Given the description of an element on the screen output the (x, y) to click on. 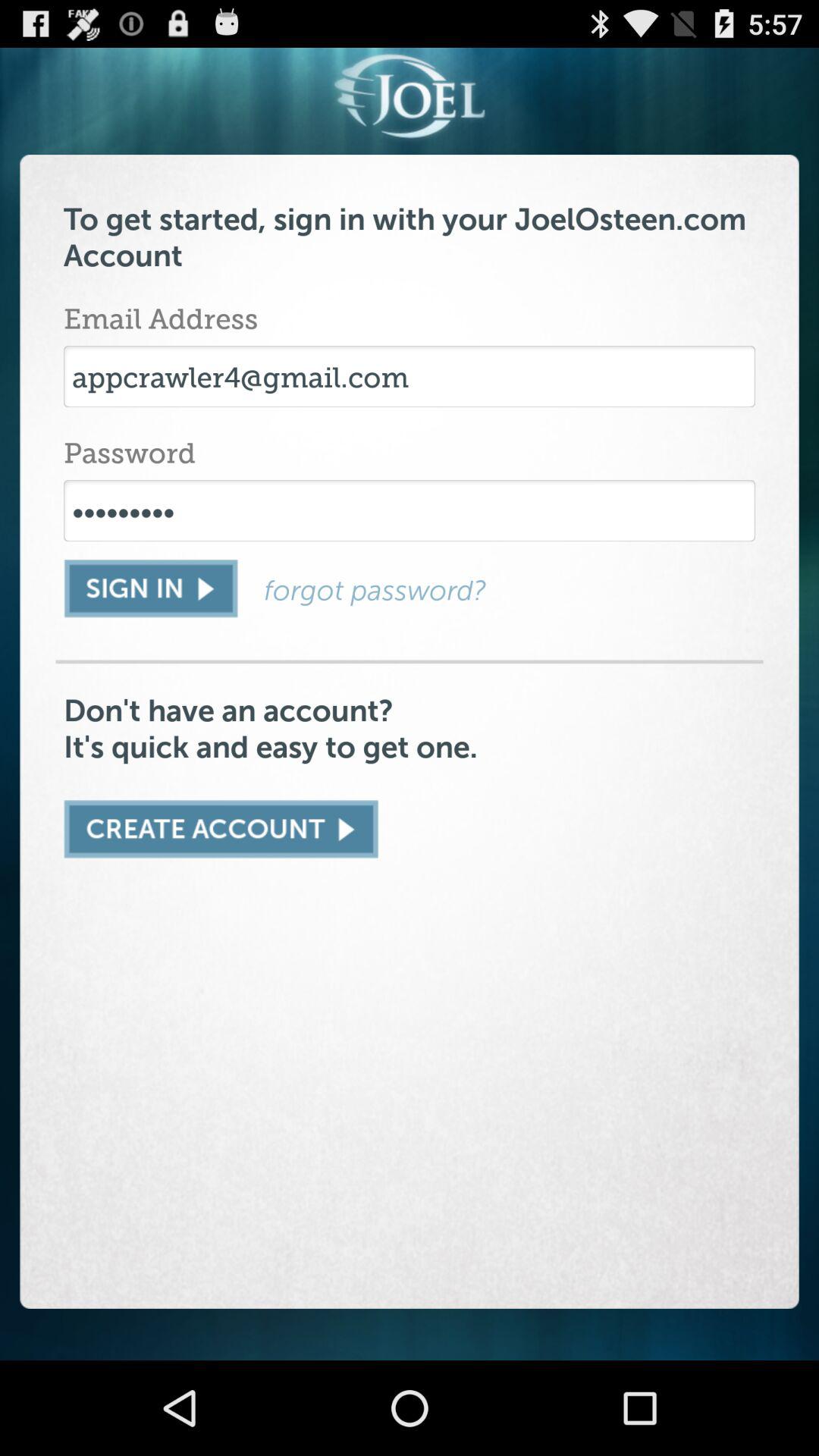
create new account (220, 829)
